Given the description of an element on the screen output the (x, y) to click on. 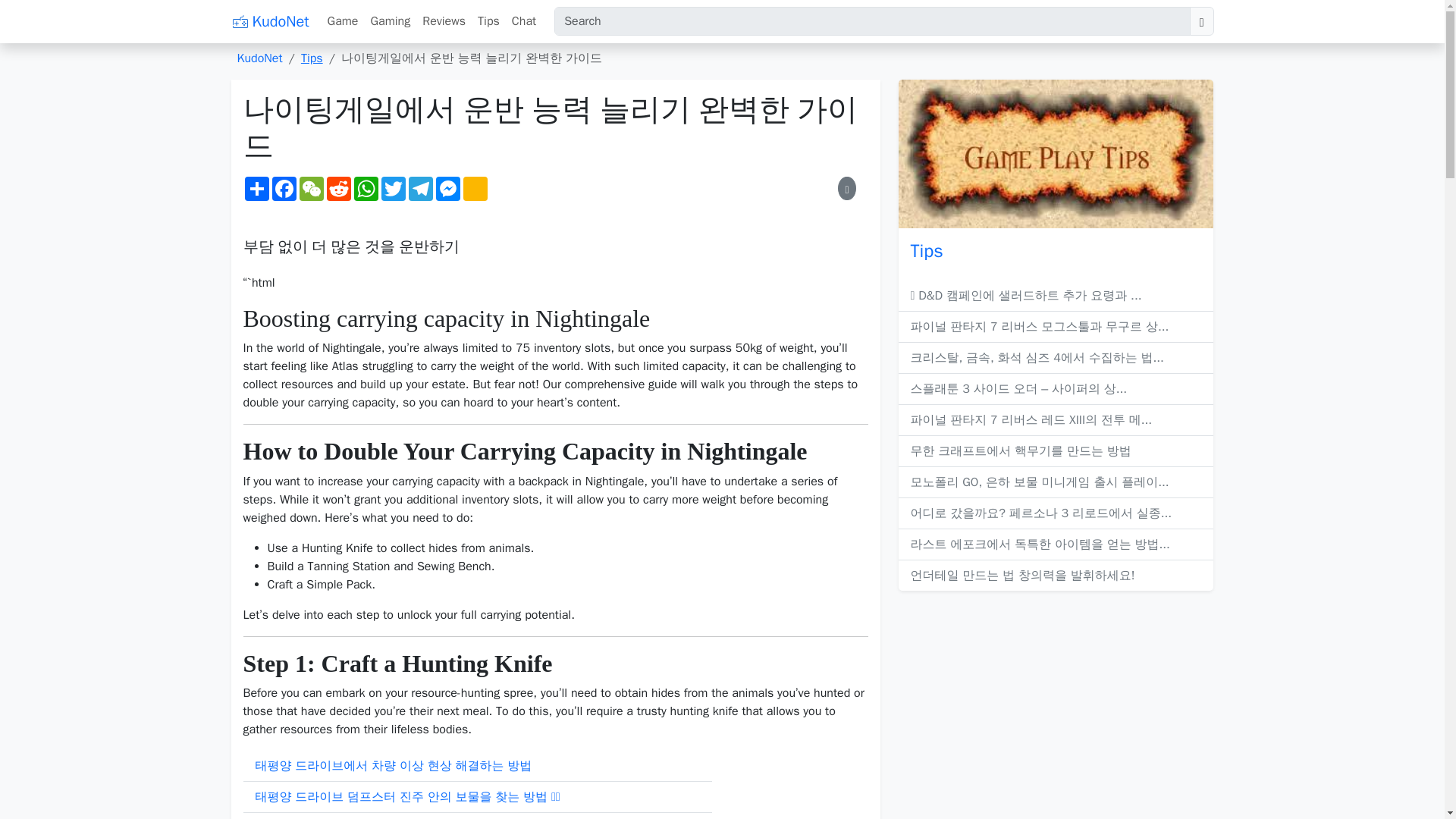
Messenger (447, 188)
Chat (523, 20)
Game (343, 20)
Facebook (283, 188)
Twitter (392, 188)
WeChat (310, 188)
Telegram (419, 188)
KudoNet (258, 58)
KudoNet (269, 20)
Gaming (390, 20)
